Given the description of an element on the screen output the (x, y) to click on. 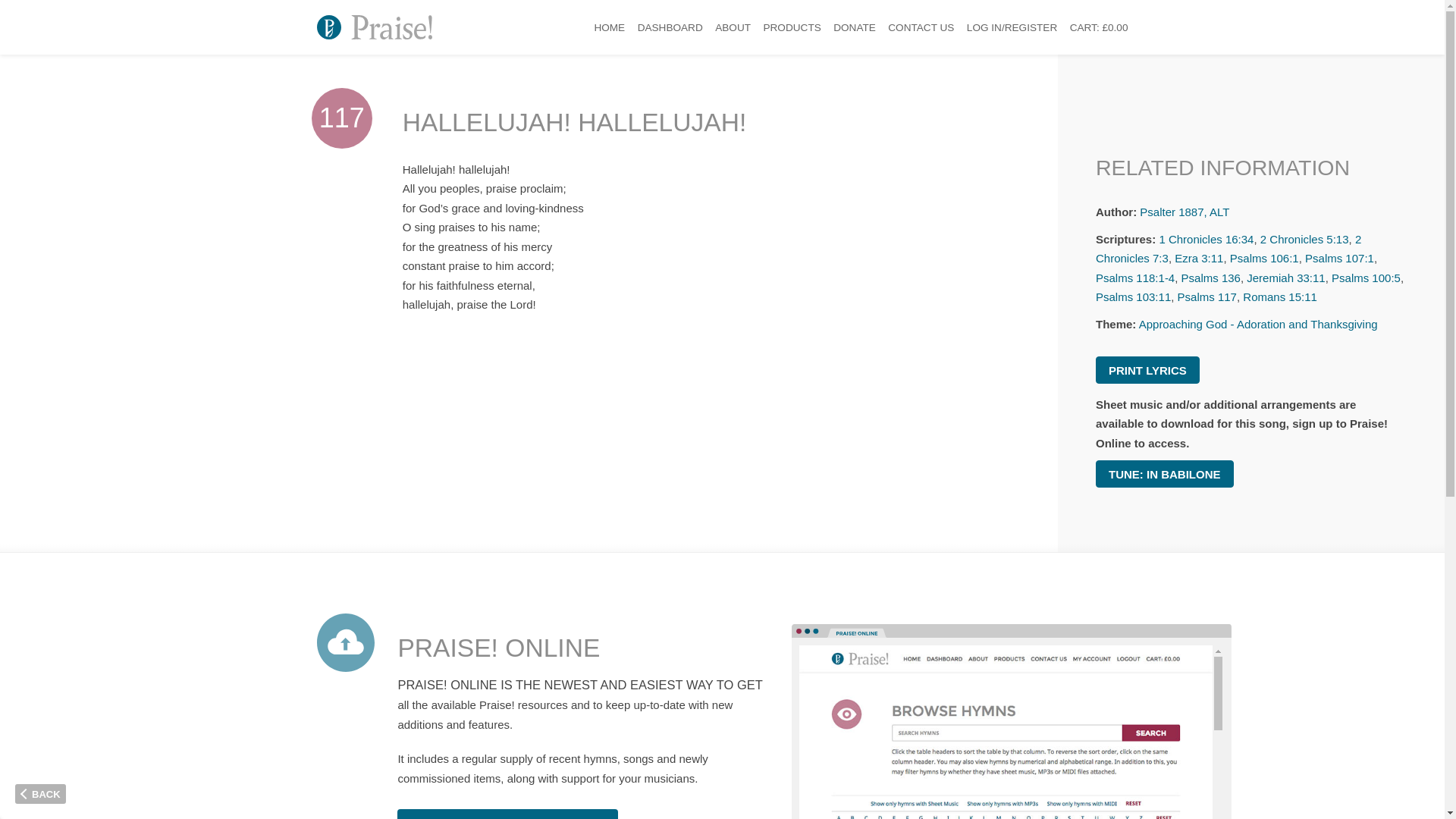
ABOUT (732, 27)
2 Chronicles 7:3 (1228, 248)
Psalms 107:1 (1339, 257)
Psalms 136 (1210, 277)
Psalter 1887, ALT (1184, 211)
BACK (39, 793)
Romans 15:11 (1280, 296)
Ezra 3:11 (1198, 257)
DASHBOARD (670, 27)
Psalms 103:11 (1133, 296)
HOME (609, 27)
PRODUCTS (791, 27)
TUNE: IN BABILONE (1164, 473)
Psalms 100:5 (1366, 277)
Jeremiah 33:11 (1285, 277)
